Given the description of an element on the screen output the (x, y) to click on. 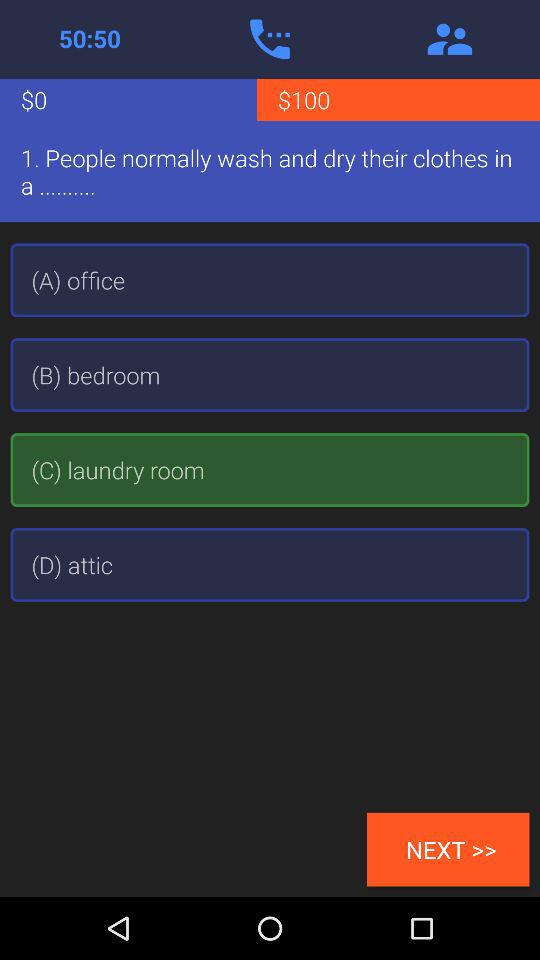
flip until (b) bedroom item (269, 375)
